Given the description of an element on the screen output the (x, y) to click on. 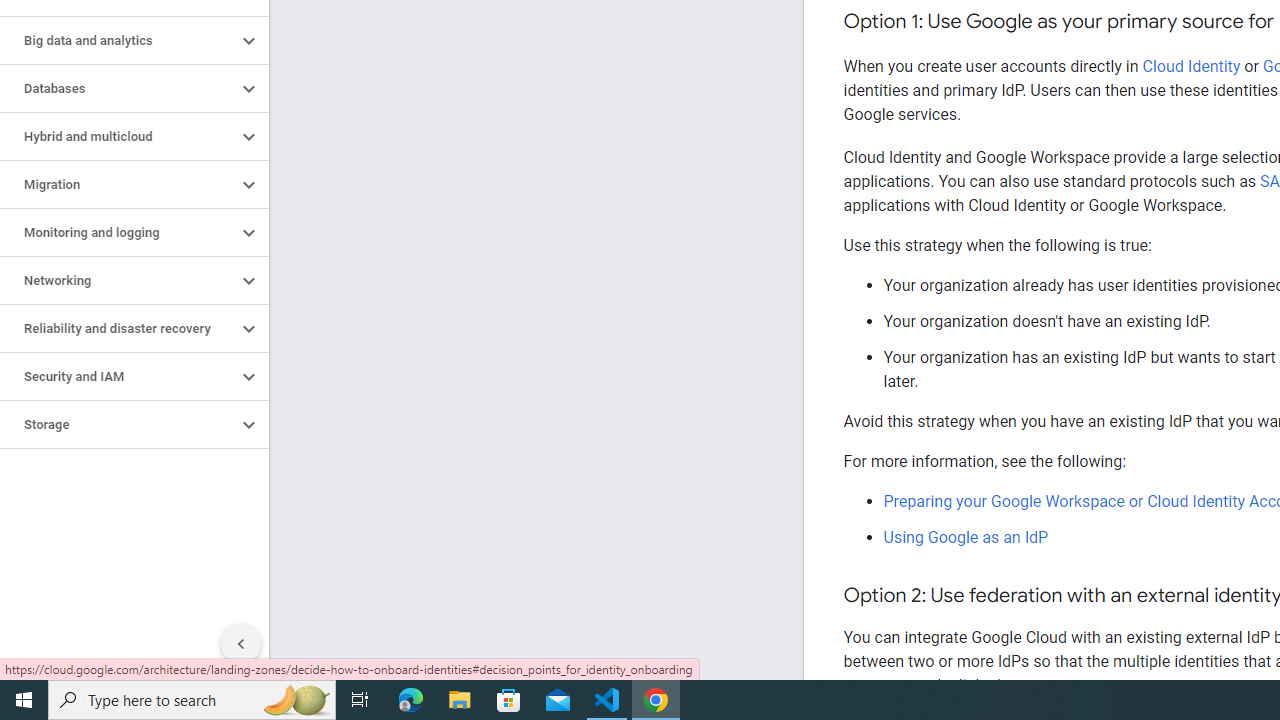
Monitoring and logging (118, 232)
Hide side navigation (241, 643)
Using Google as an IdP (966, 537)
Networking (118, 281)
Reliability and disaster recovery (118, 328)
Migration (118, 184)
Big data and analytics (118, 40)
Storage (118, 425)
Security and IAM (118, 376)
Hybrid and multicloud (118, 137)
Cloud Identity (1191, 66)
Databases (118, 88)
